Given the description of an element on the screen output the (x, y) to click on. 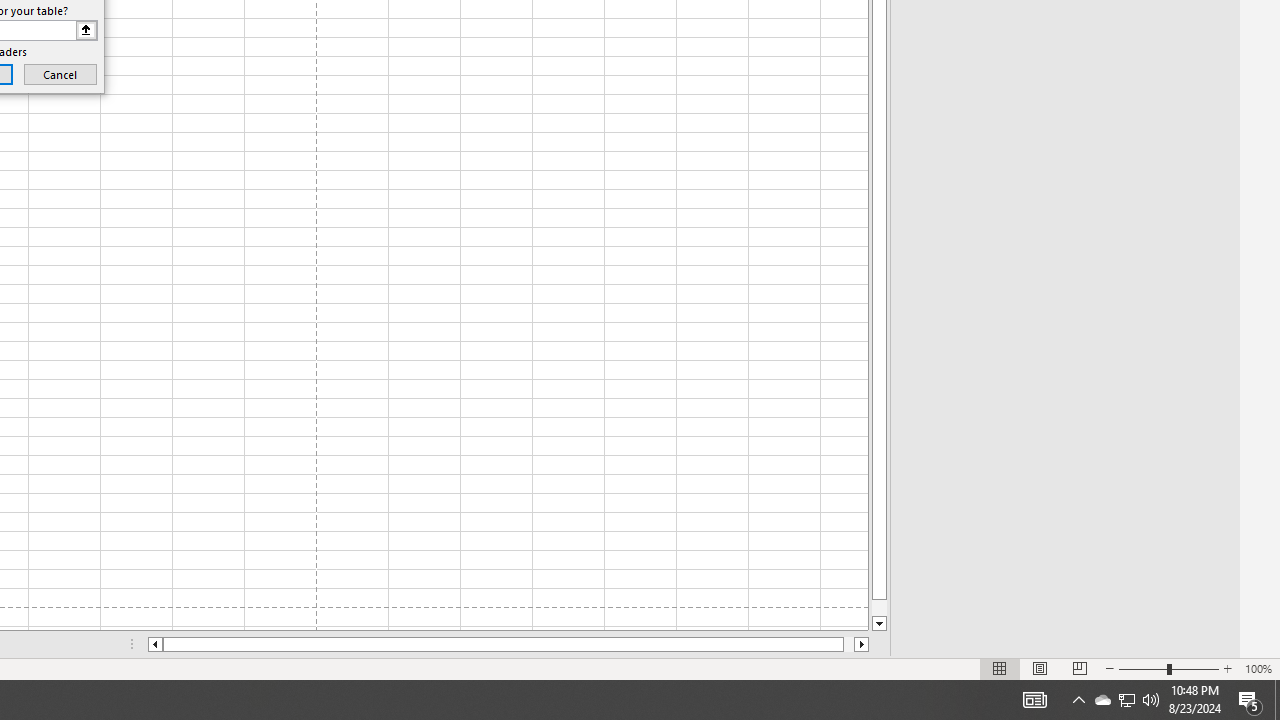
Page down (879, 607)
